Given the description of an element on the screen output the (x, y) to click on. 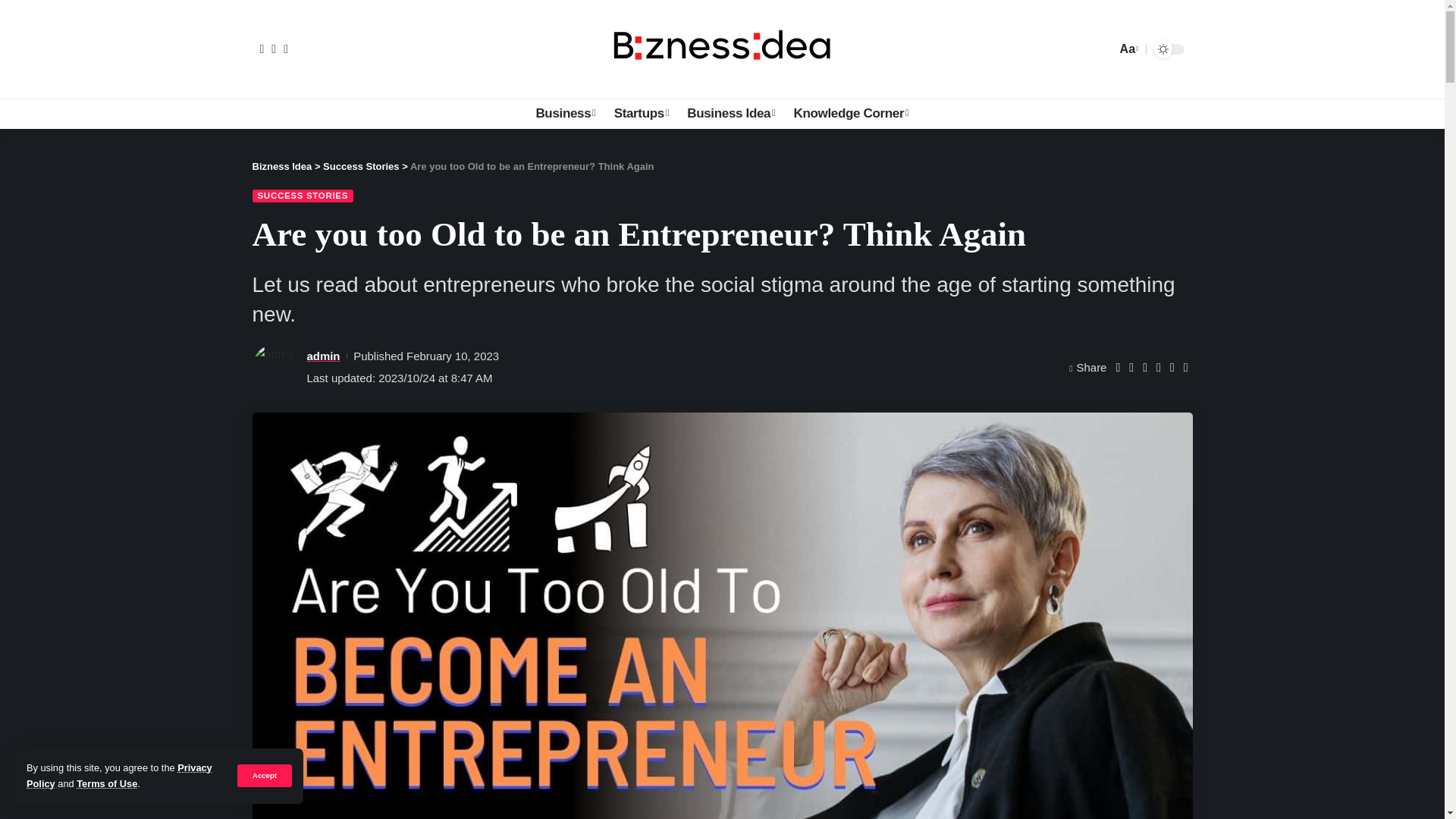
Accept (264, 775)
Privacy Policy (119, 775)
Terms of Use (106, 783)
Business (564, 113)
Aa (1127, 48)
Bizness Idea (721, 48)
